Given the description of an element on the screen output the (x, y) to click on. 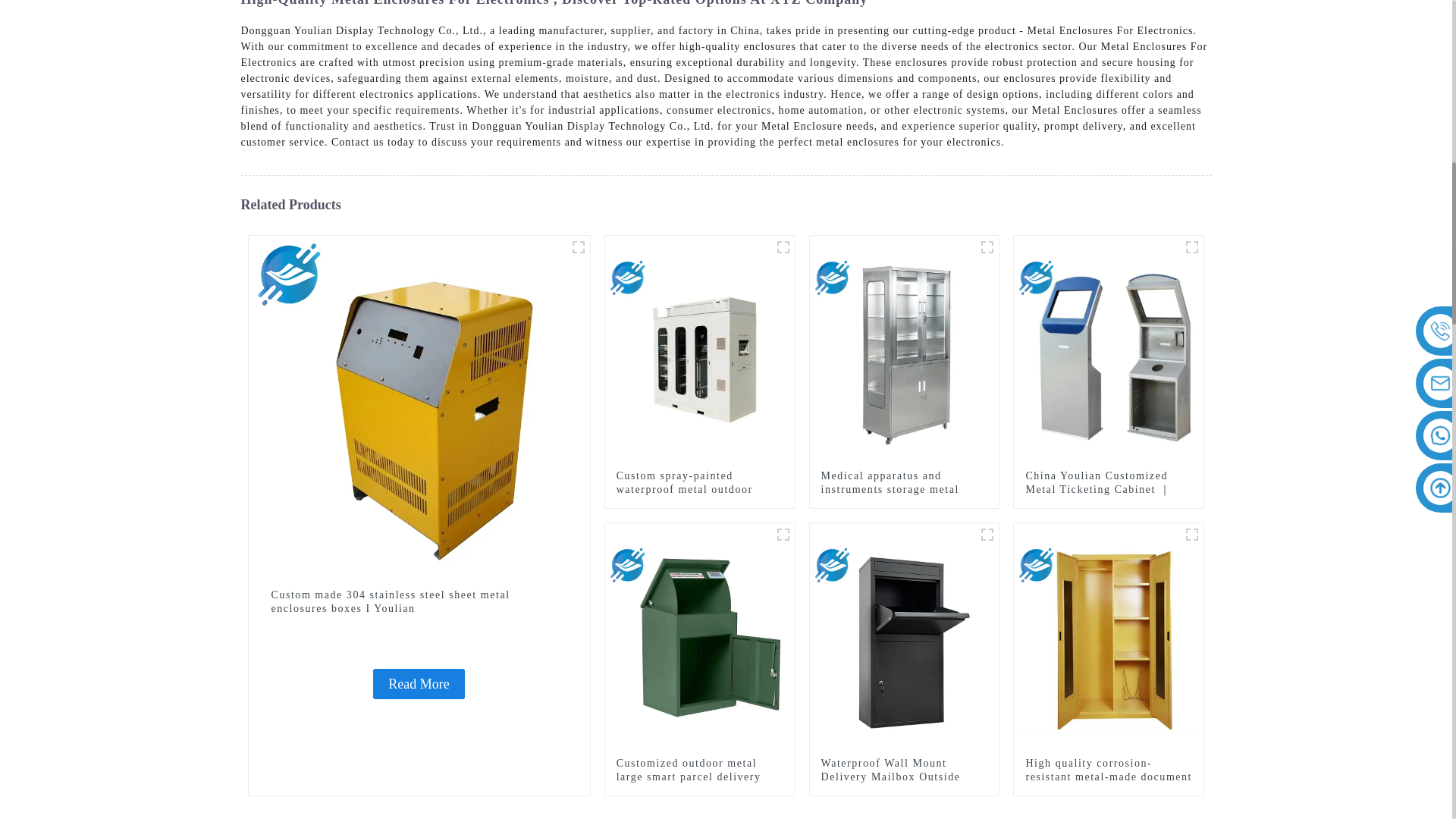
Customized outdoor metal large smart parcel delivery mailbox (699, 636)
Customized outdoor metal large smart parcel delivery mailbox (699, 776)
Read More (418, 684)
